Given the description of an element on the screen output the (x, y) to click on. 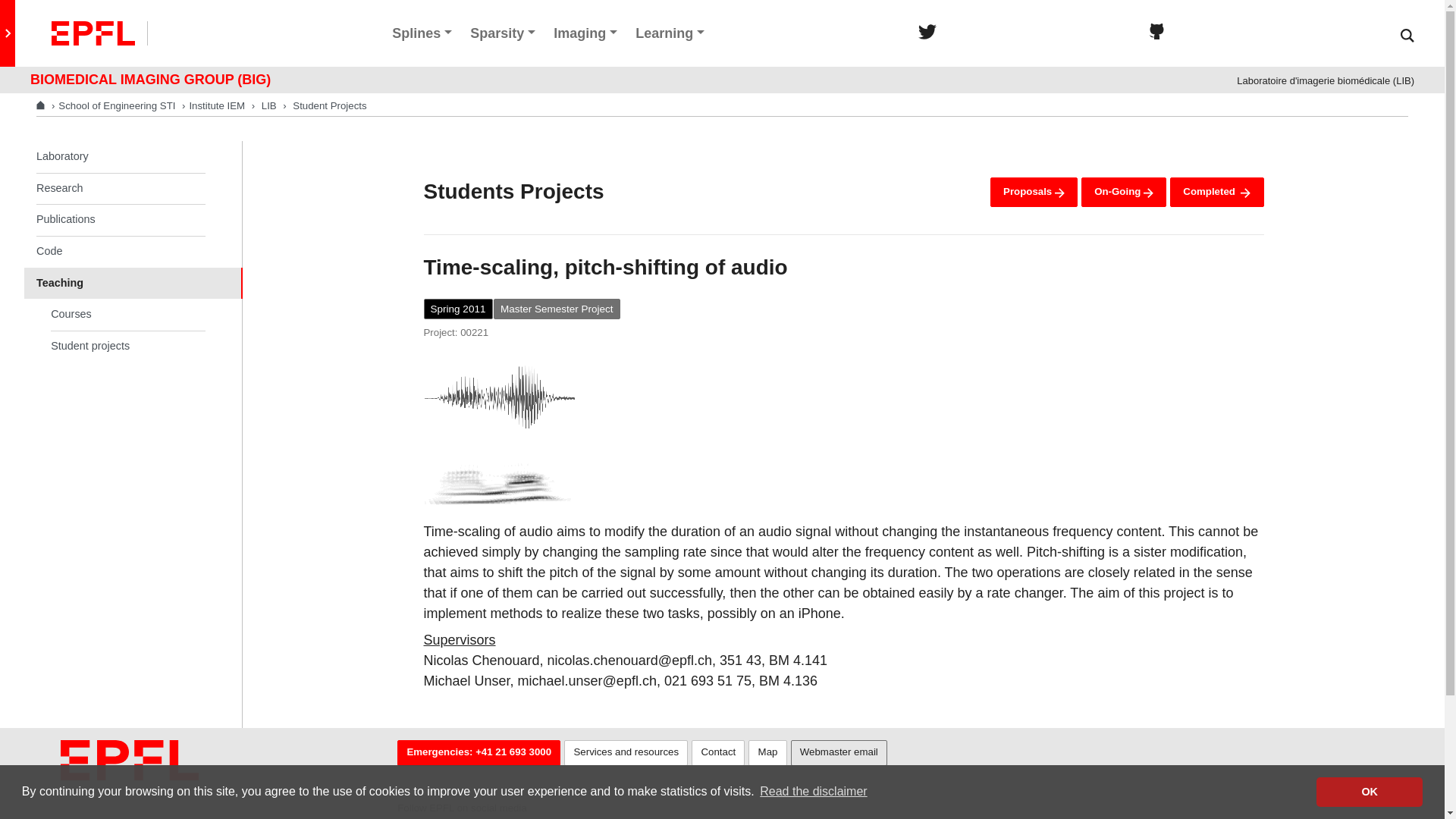
Twitter (927, 31)
Student Projects (329, 105)
STI (116, 105)
Sparsity (502, 32)
Follow us on Twitter. (927, 31)
LIB (267, 105)
IEM (216, 105)
 LIB (267, 105)
Institute IEM (216, 105)
Join our Github. (1156, 31)
